Given the description of an element on the screen output the (x, y) to click on. 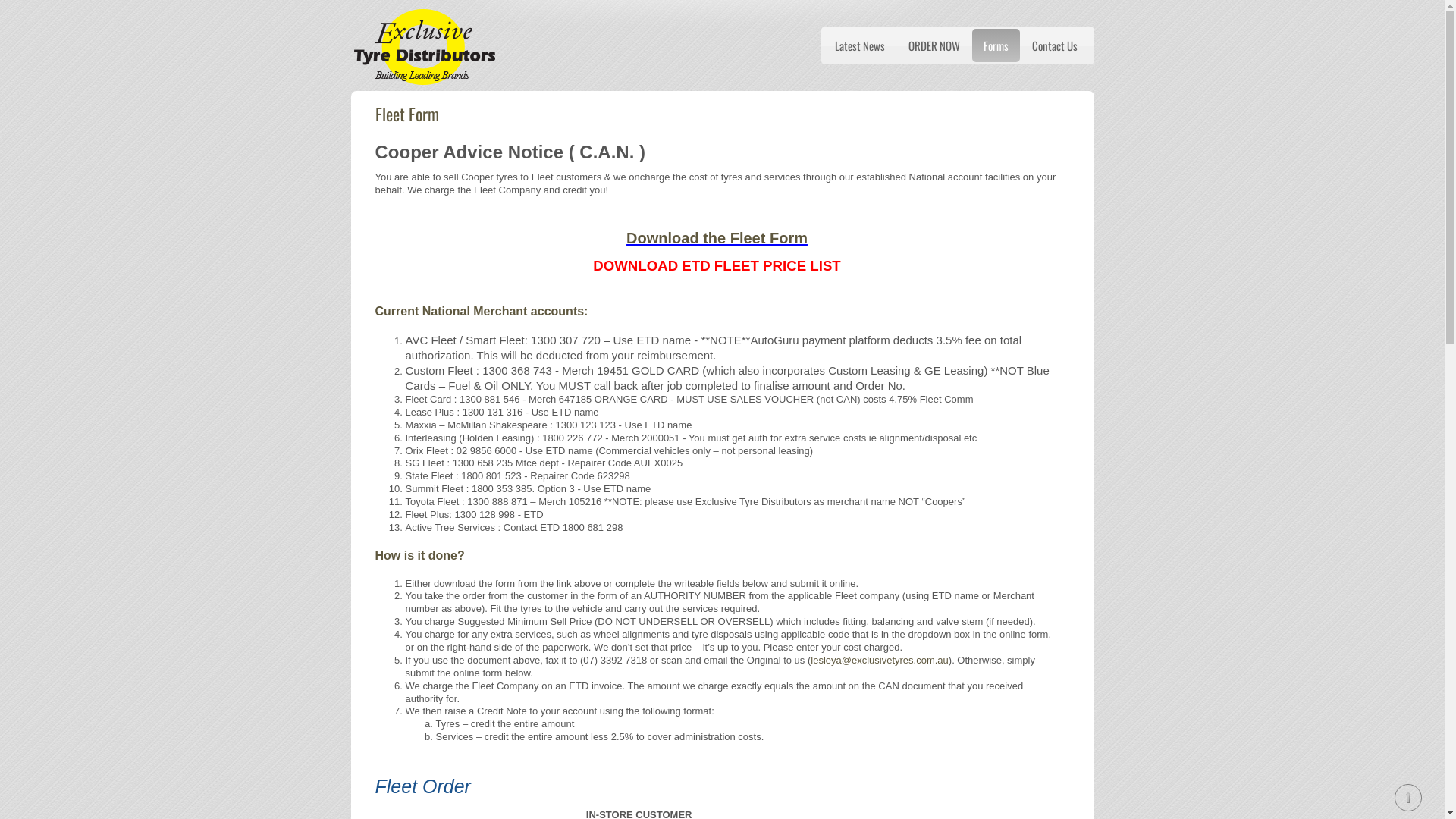
lesleya@exclusivetyres.com.au Element type: text (879, 659)
Download the Fleet Form Element type: text (716, 237)
DOWNLOAD ETD FLEET PRICE LIST Element type: text (716, 265)
ORDER NOW Element type: text (933, 45)
  Element type: text (375, 285)
Fleet Form Element type: text (406, 113)
Forms Element type: text (995, 45)
Latest News Element type: text (859, 45)
Contact Us Element type: text (1054, 45)
